Given the description of an element on the screen output the (x, y) to click on. 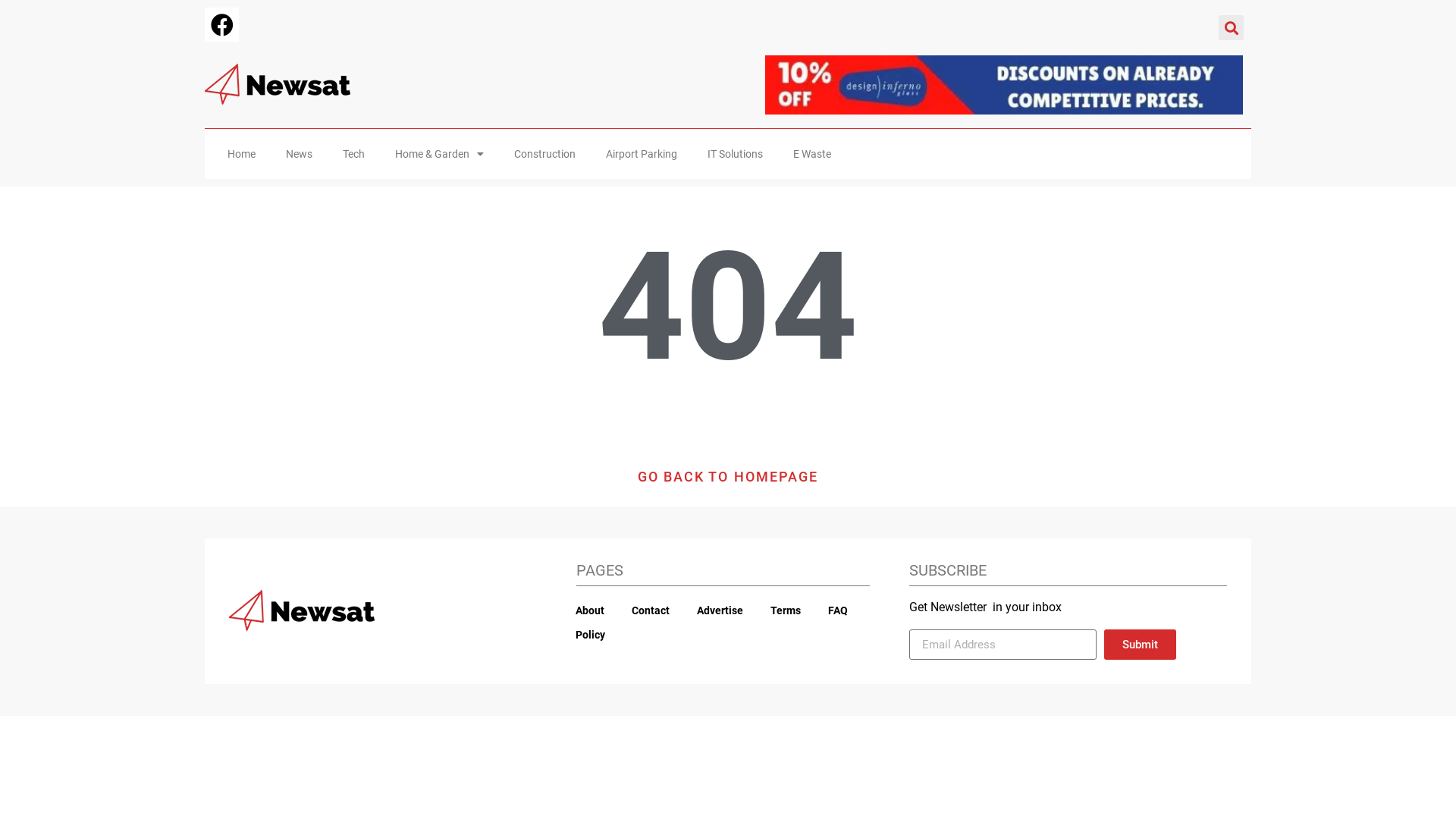
GO BACK TO HOMEPAGE Element type: text (728, 476)
News Element type: text (298, 153)
Airport Parking Element type: text (641, 153)
Construction Element type: text (544, 153)
Policy Element type: text (589, 634)
About Element type: text (589, 610)
Tech Element type: text (353, 153)
Home & Garden Element type: text (438, 153)
FAQ Element type: text (837, 610)
Submit Element type: text (1140, 644)
Home Element type: text (241, 153)
Contact Element type: text (650, 610)
IT Solutions Element type: text (735, 153)
E Waste Element type: text (812, 153)
Advertise Element type: text (719, 610)
Terms Element type: text (785, 610)
